Given the description of an element on the screen output the (x, y) to click on. 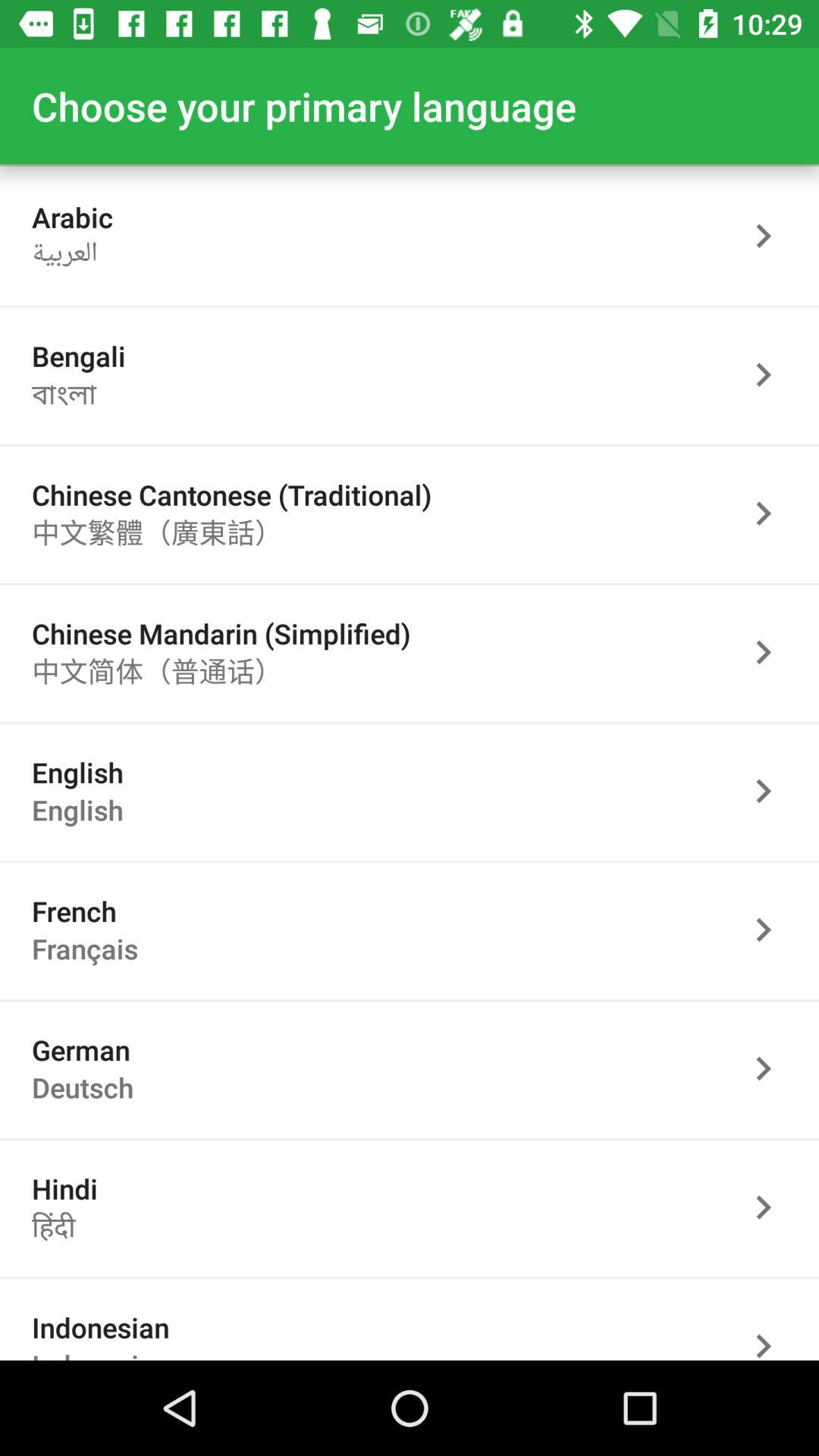
select options for this language (771, 1207)
